Given the description of an element on the screen output the (x, y) to click on. 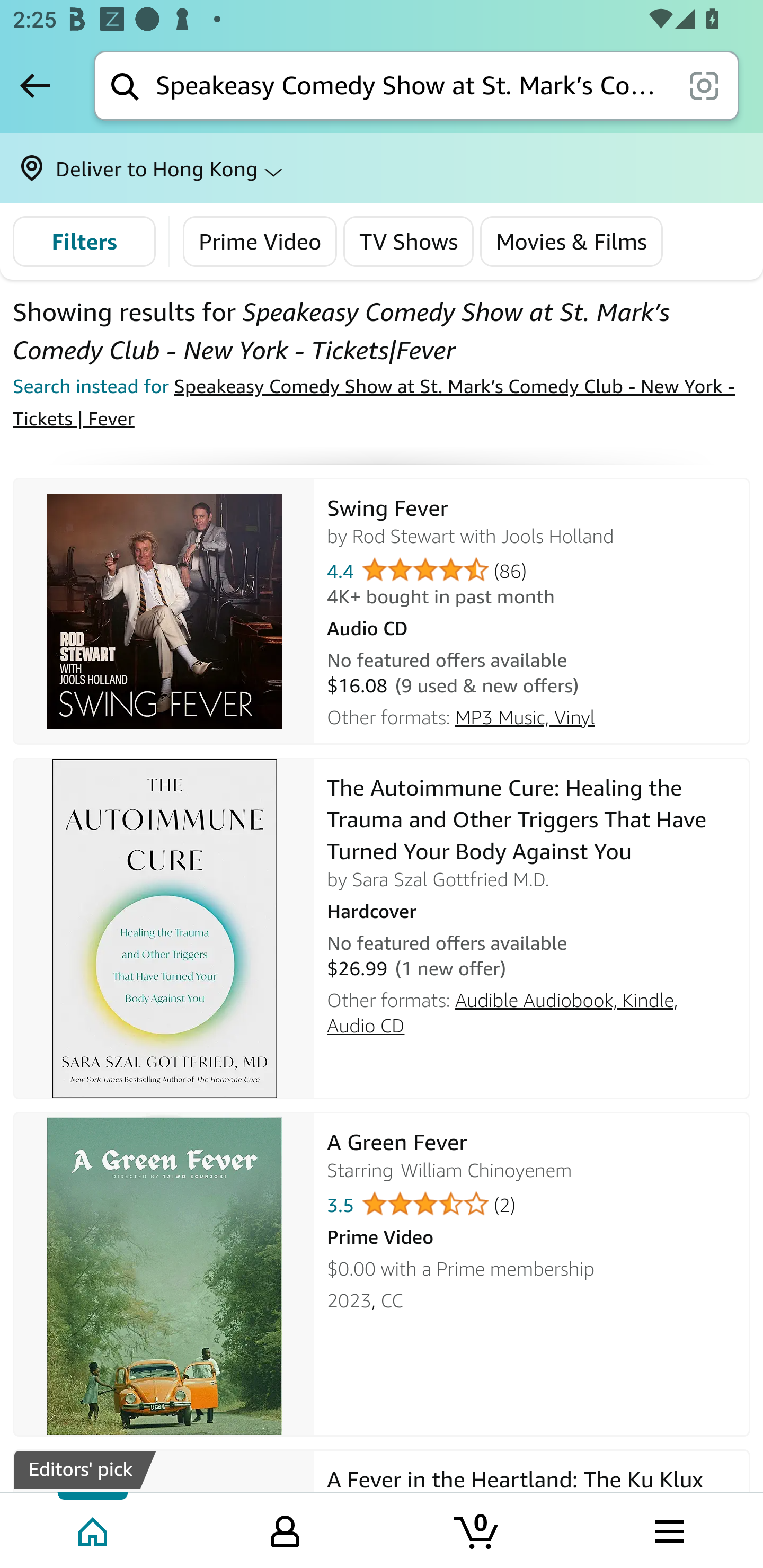
Back (35, 85)
scan it (704, 85)
Deliver to Hong Kong ⌵ (381, 168)
Filters (83, 241)
Filters (83, 241)
Prime Video (260, 241)
TV Shows (409, 241)
Movies & Films (571, 241)
Swing Fever (164, 610)
Hardcover (532, 908)
A Green Fever (164, 1272)
Home Tab 1 of 4 (94, 1529)
Your Amazon.com Tab 2 of 4 (285, 1529)
Cart 0 item Tab 3 of 4 0 (477, 1529)
Browse menu Tab 4 of 4 (668, 1529)
